Given the description of an element on the screen output the (x, y) to click on. 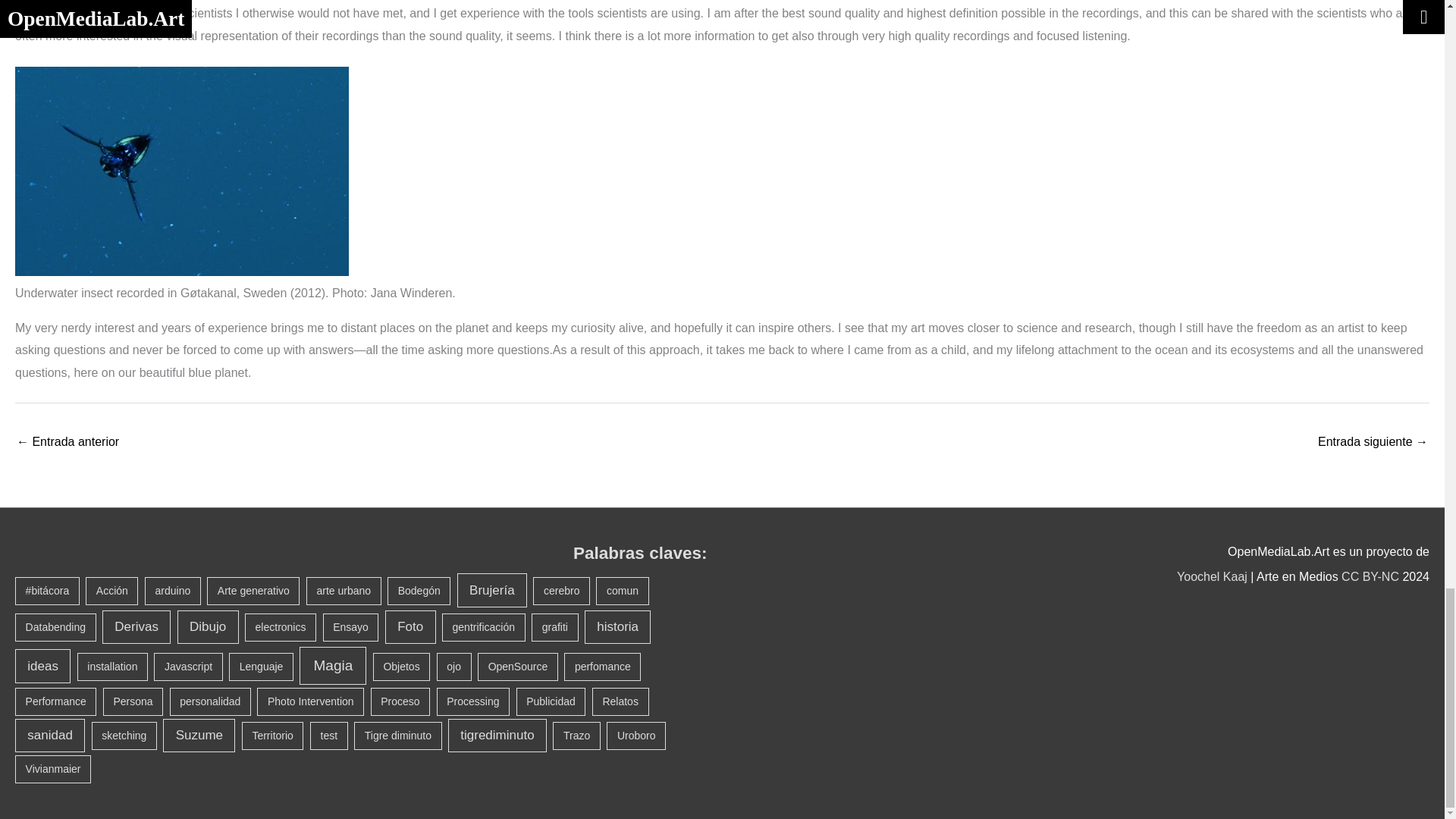
Arte generativo (252, 591)
arduino (172, 591)
Karen Archey (1372, 443)
Ken Okiishi (67, 443)
